Given the description of an element on the screen output the (x, y) to click on. 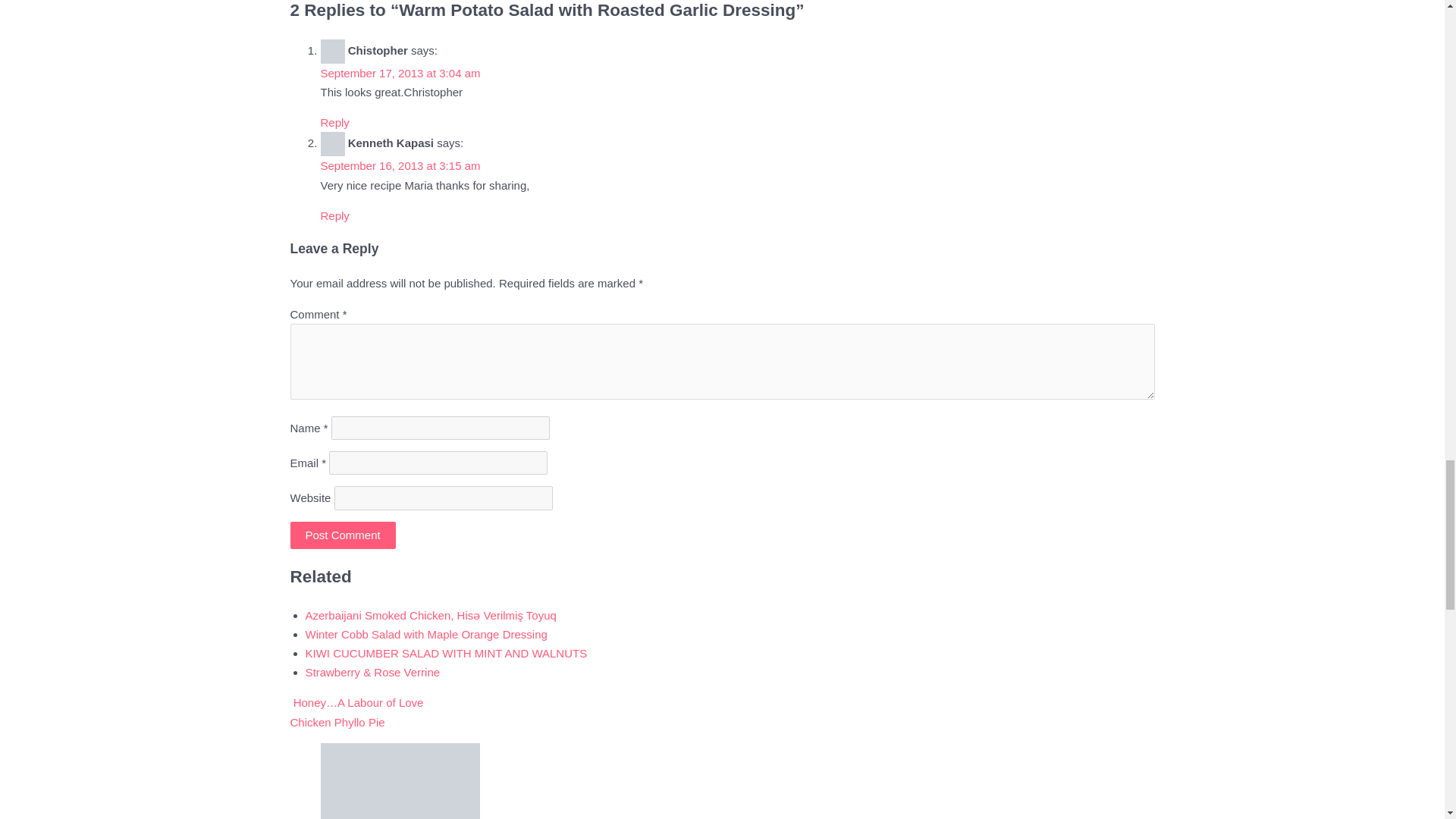
Reply (334, 215)
Post Comment (341, 534)
KIWI CUCUMBER SALAD WITH MINT AND WALNUTS (445, 653)
Post Comment (341, 534)
September 16, 2013 at 3:15 am (400, 164)
Winter Cobb Salad with Maple Orange Dressing (425, 634)
Reply (334, 122)
September 17, 2013 at 3:04 am (400, 72)
